Given the description of an element on the screen output the (x, y) to click on. 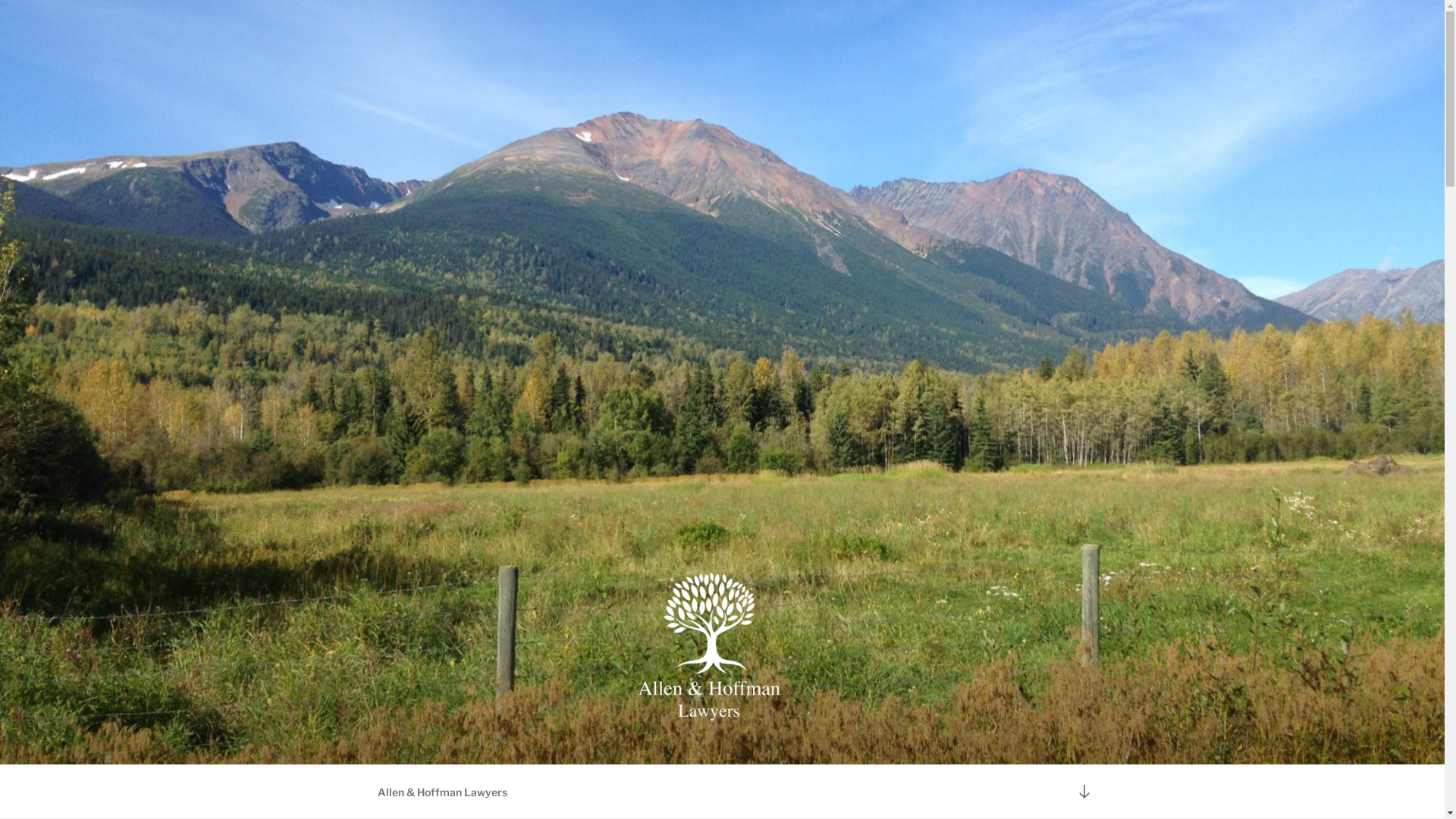
Allen & Hoffman Lawyers Element type: text (442, 791)
ALLEN & HOFFMAN LAWYERS Element type: text (614, 744)
Scroll down to content Element type: text (1083, 790)
Skip to content Element type: text (0, 0)
